Given the description of an element on the screen output the (x, y) to click on. 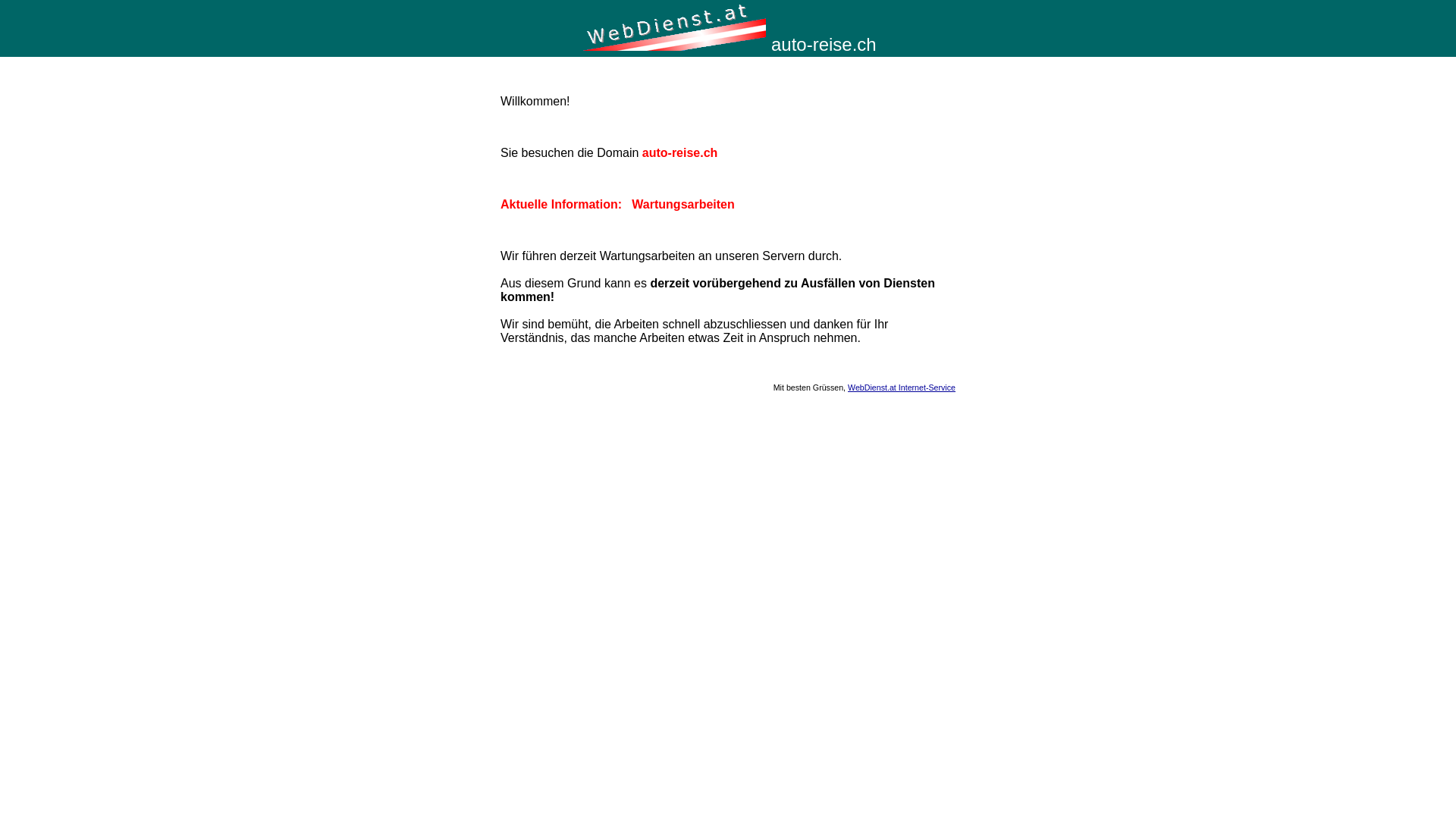
WebDienst.at Internet-Service Element type: text (901, 387)
